Given the description of an element on the screen output the (x, y) to click on. 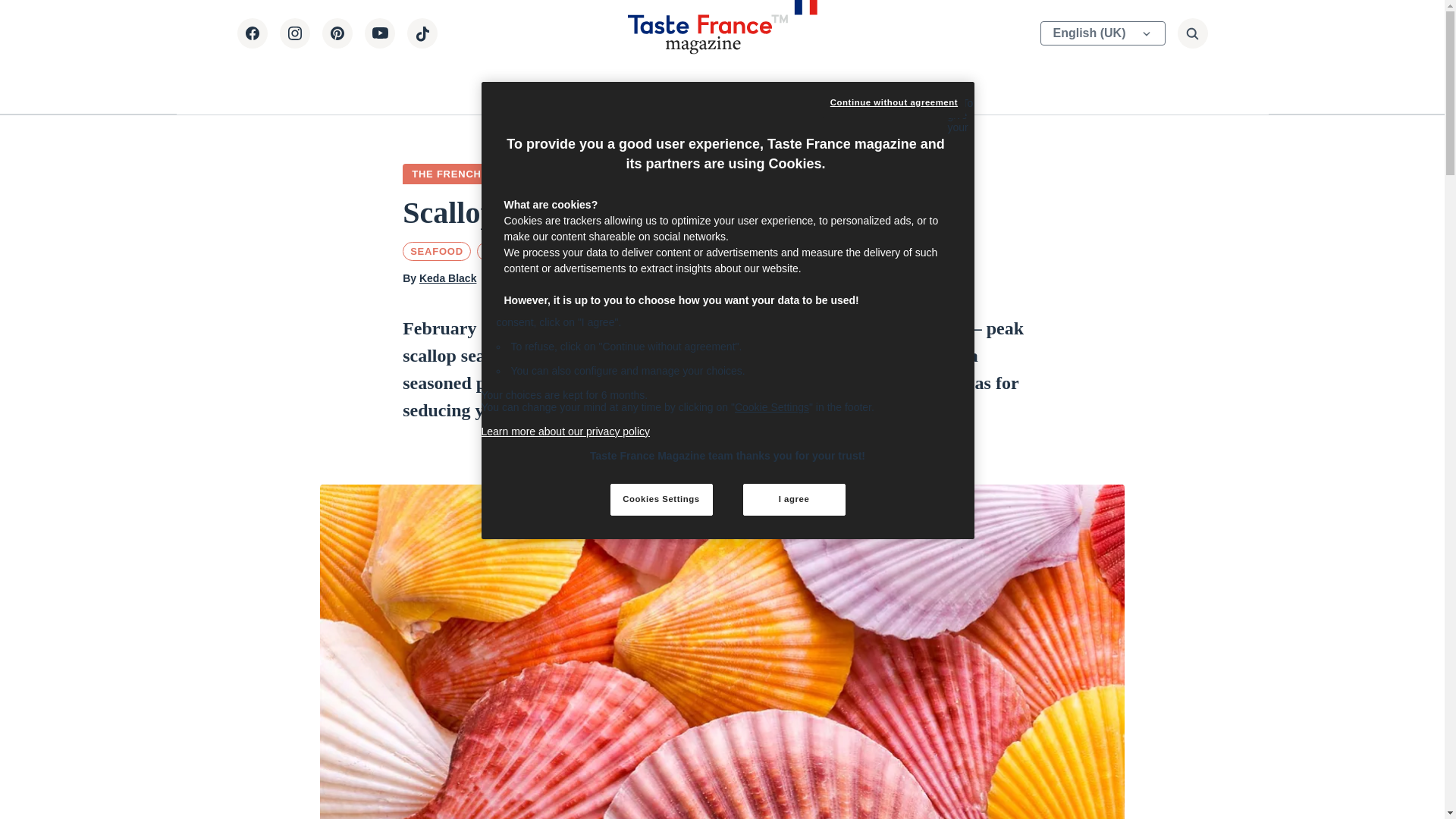
VALENTINE'S DAY (532, 251)
Recipes (630, 87)
Magazine (556, 87)
THE FRENCH PANTRY (470, 173)
Keda Black (447, 277)
French Products (726, 87)
SEAFOOD (436, 251)
Taste France Family (857, 87)
Search (990, 46)
